Given the description of an element on the screen output the (x, y) to click on. 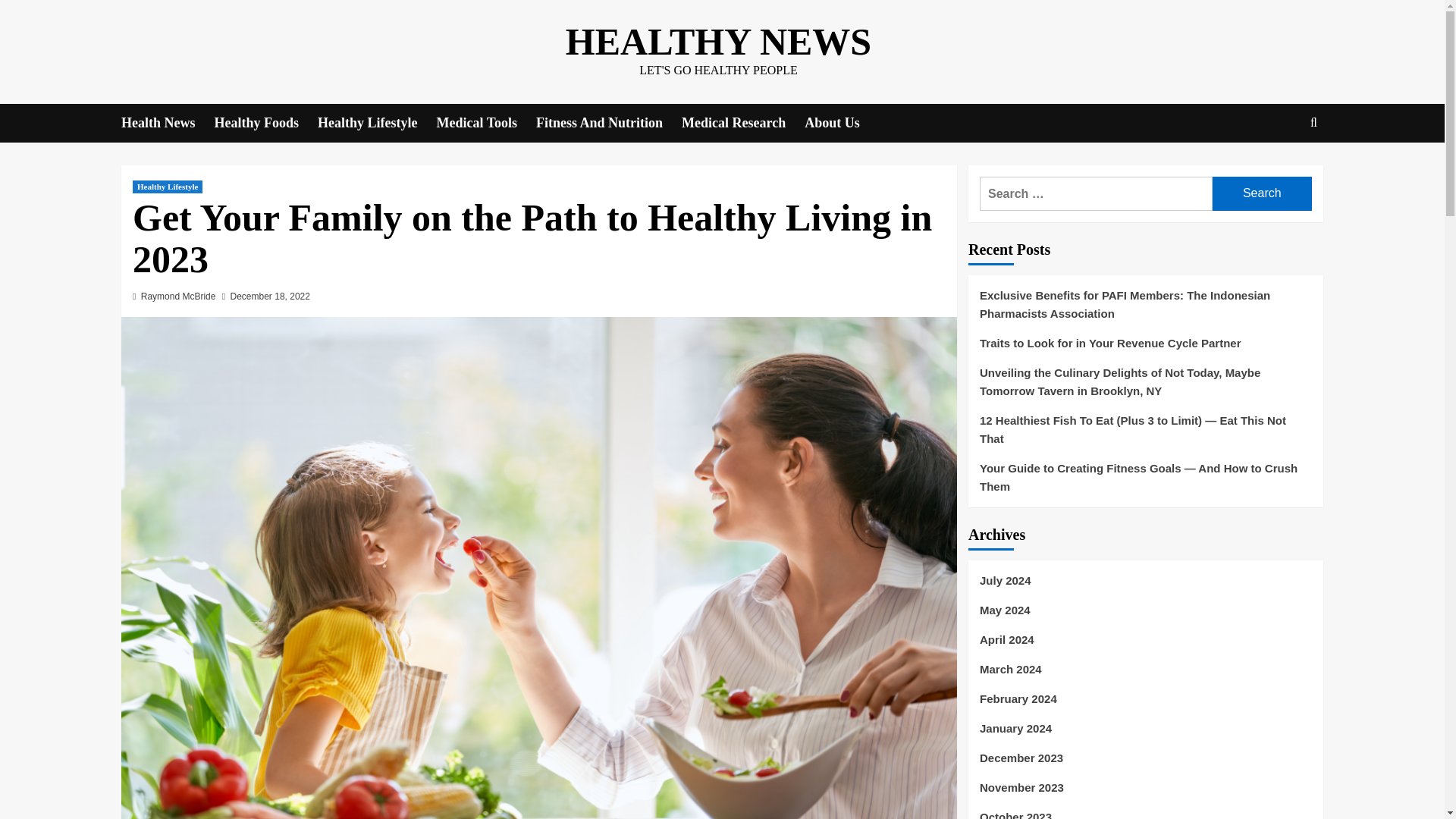
Medical Tools (486, 123)
Healthy Lifestyle (376, 123)
Healthy Foods (265, 123)
Healthy Lifestyle (167, 186)
Medical Research (743, 123)
Search (1261, 193)
Search (1278, 169)
December 18, 2022 (270, 296)
Health News (167, 123)
